Given the description of an element on the screen output the (x, y) to click on. 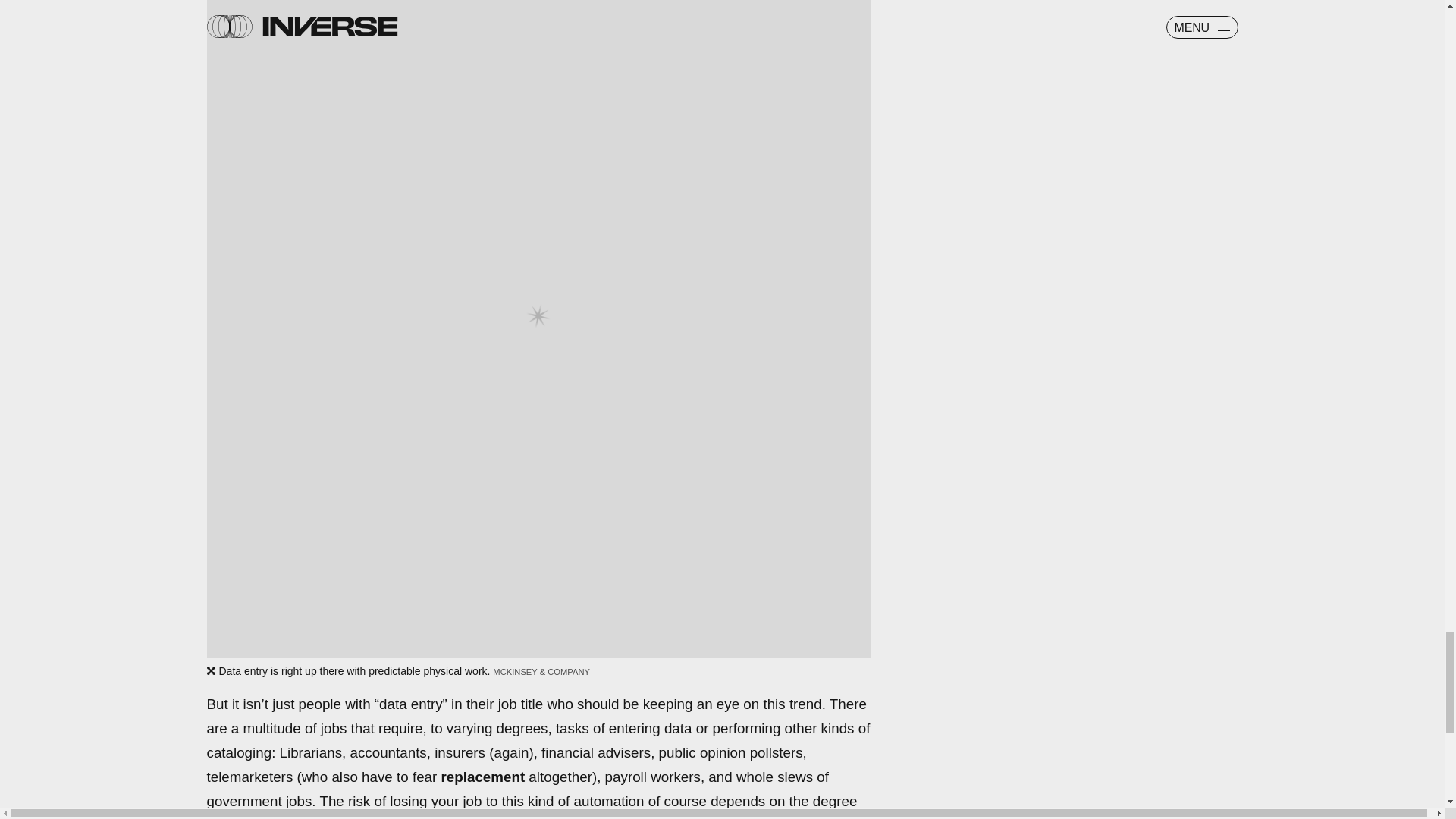
replacement (483, 776)
